Given the description of an element on the screen output the (x, y) to click on. 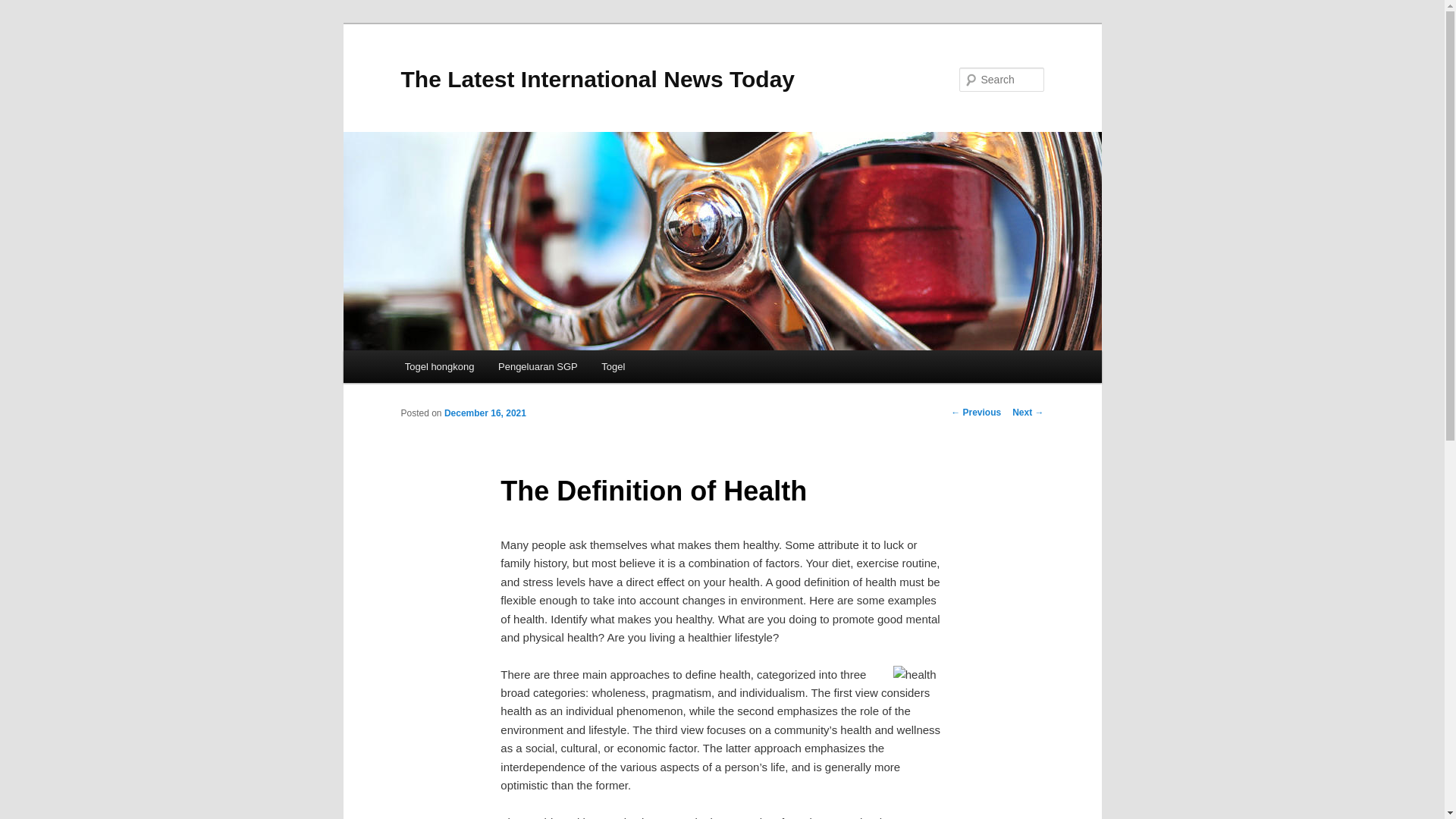
Togel hongkong (439, 366)
Pengeluaran SGP (537, 366)
The Latest International News Today (597, 78)
11:41 am (484, 412)
Search (24, 8)
Togel (613, 366)
December 16, 2021 (484, 412)
